Given the description of an element on the screen output the (x, y) to click on. 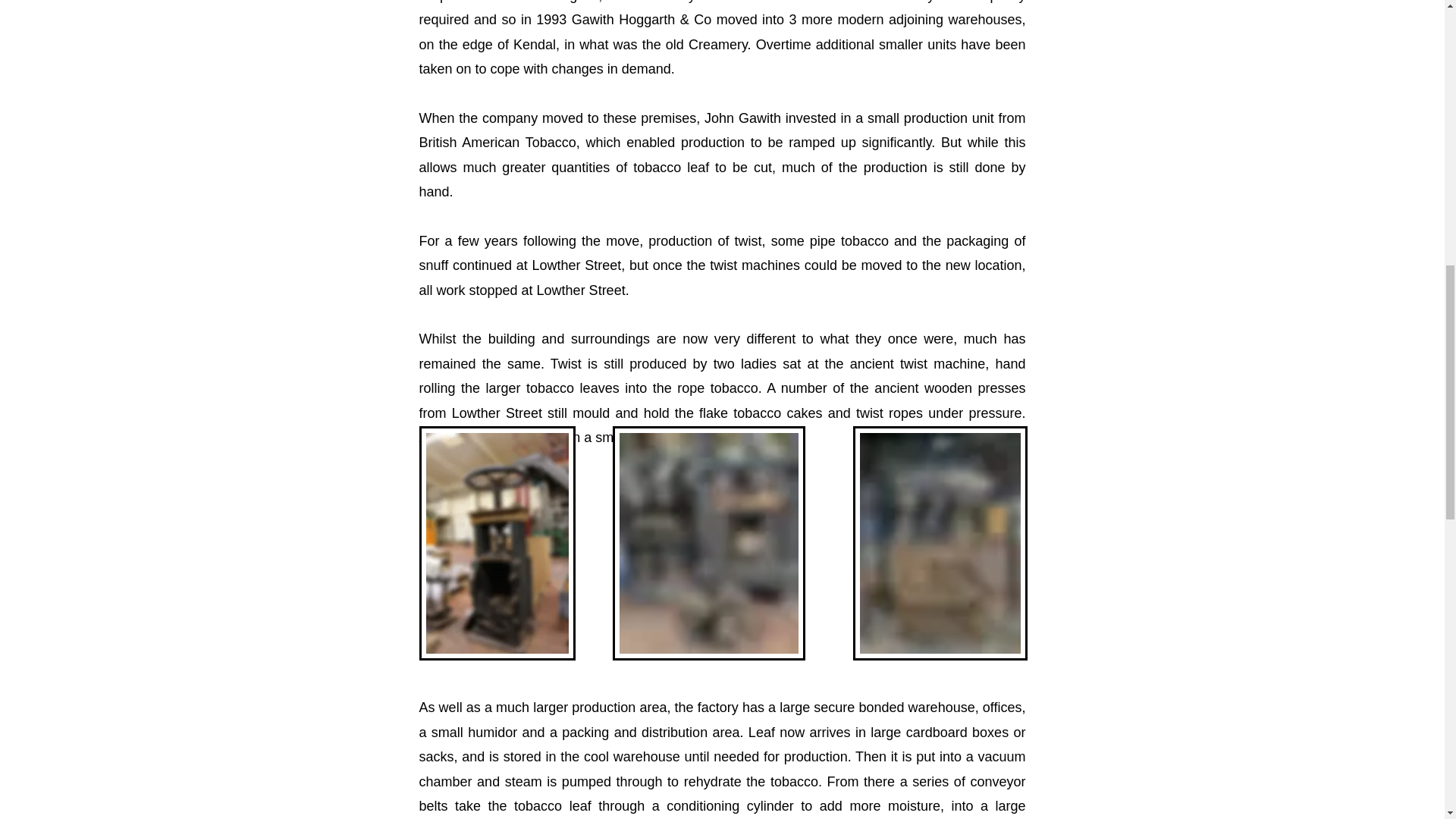
IA9A1386.JPG (497, 542)
